Given the description of an element on the screen output the (x, y) to click on. 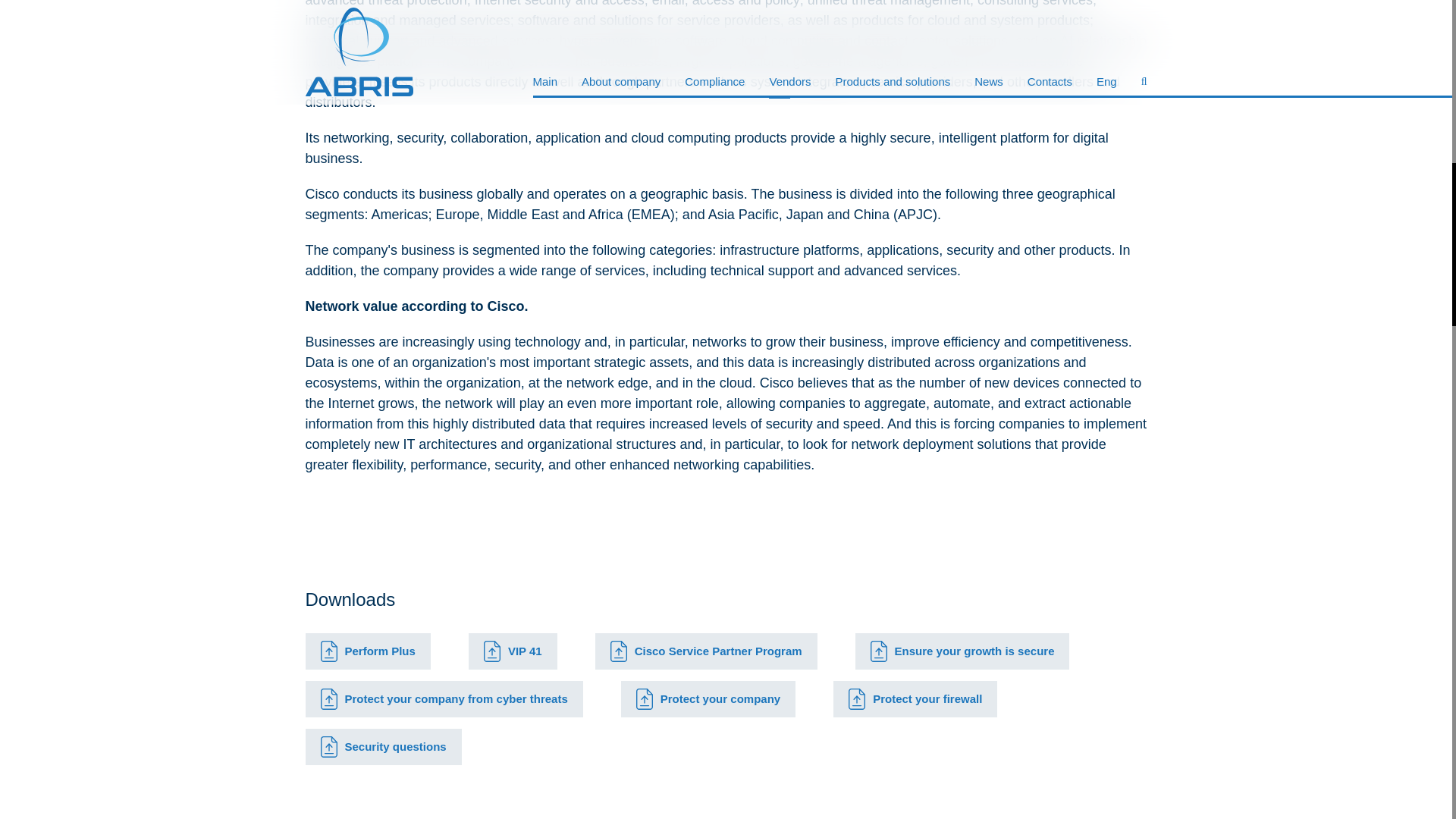
Protect your company from cyber threats (443, 698)
Perform Plus (366, 651)
Protect your firewall (914, 698)
VIP 41 (512, 651)
Cisco Service Partner Program (705, 651)
Ensure your growth is secure (963, 651)
Protect your company (707, 698)
Security questions (382, 746)
